Given the description of an element on the screen output the (x, y) to click on. 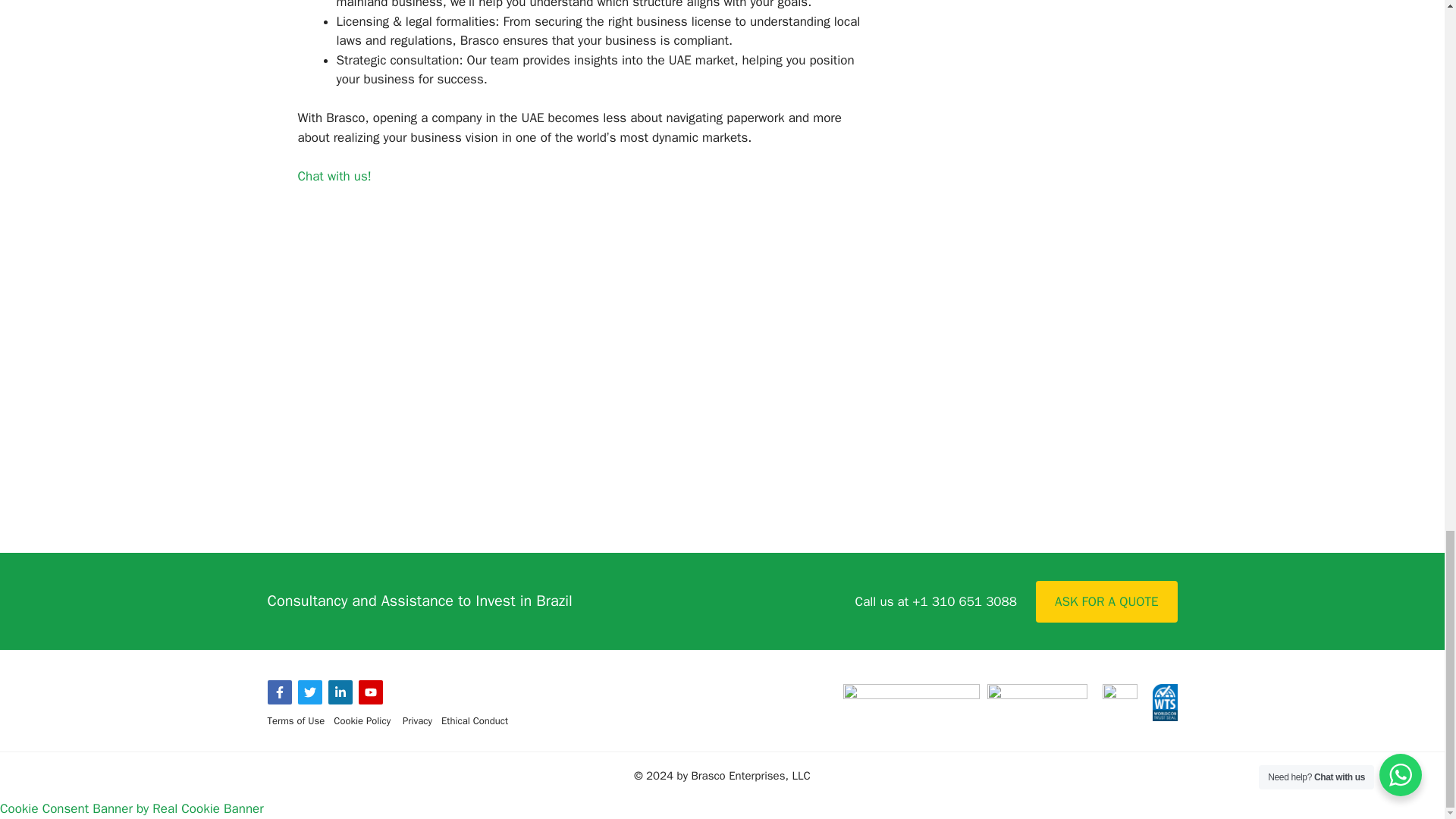
Ethical Conduct (474, 720)
Terms of Use (295, 720)
Privacy (417, 720)
Chat with us! (334, 176)
Terms of Use (295, 720)
Privacy (417, 720)
ASK FOR A QUOTE (1106, 601)
Cookie Policy  (363, 720)
